Given the description of an element on the screen output the (x, y) to click on. 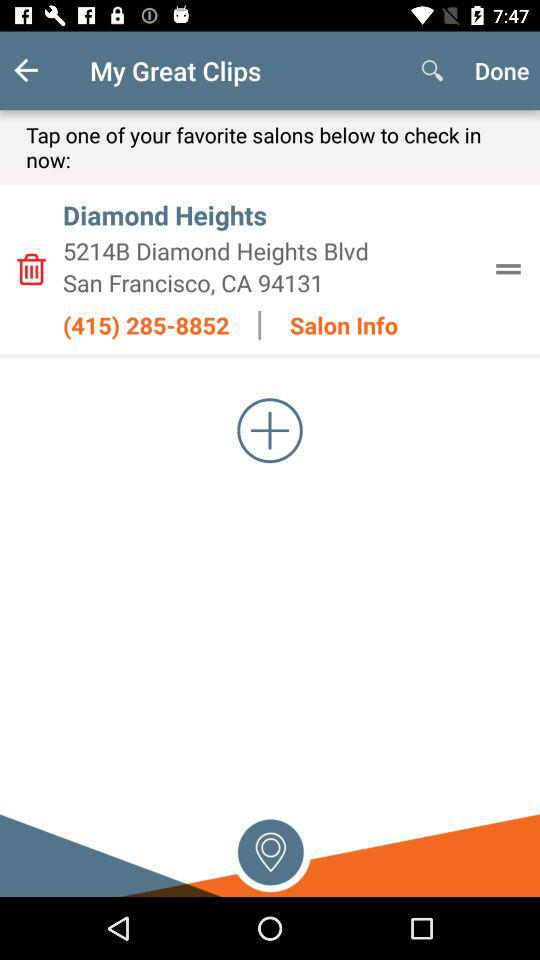
delete salon (31, 269)
